Given the description of an element on the screen output the (x, y) to click on. 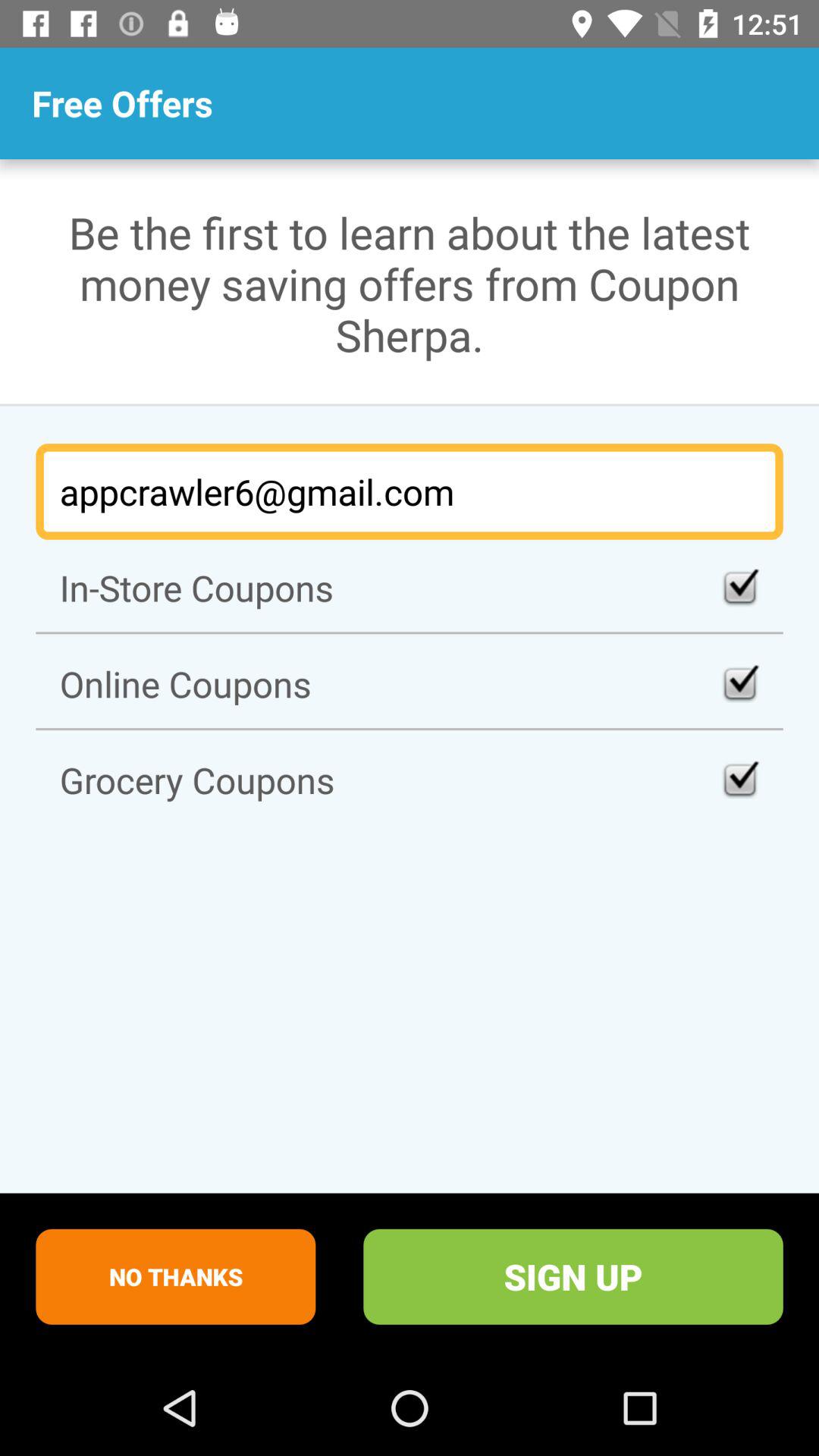
tap the in-store coupons item (409, 587)
